Given the description of an element on the screen output the (x, y) to click on. 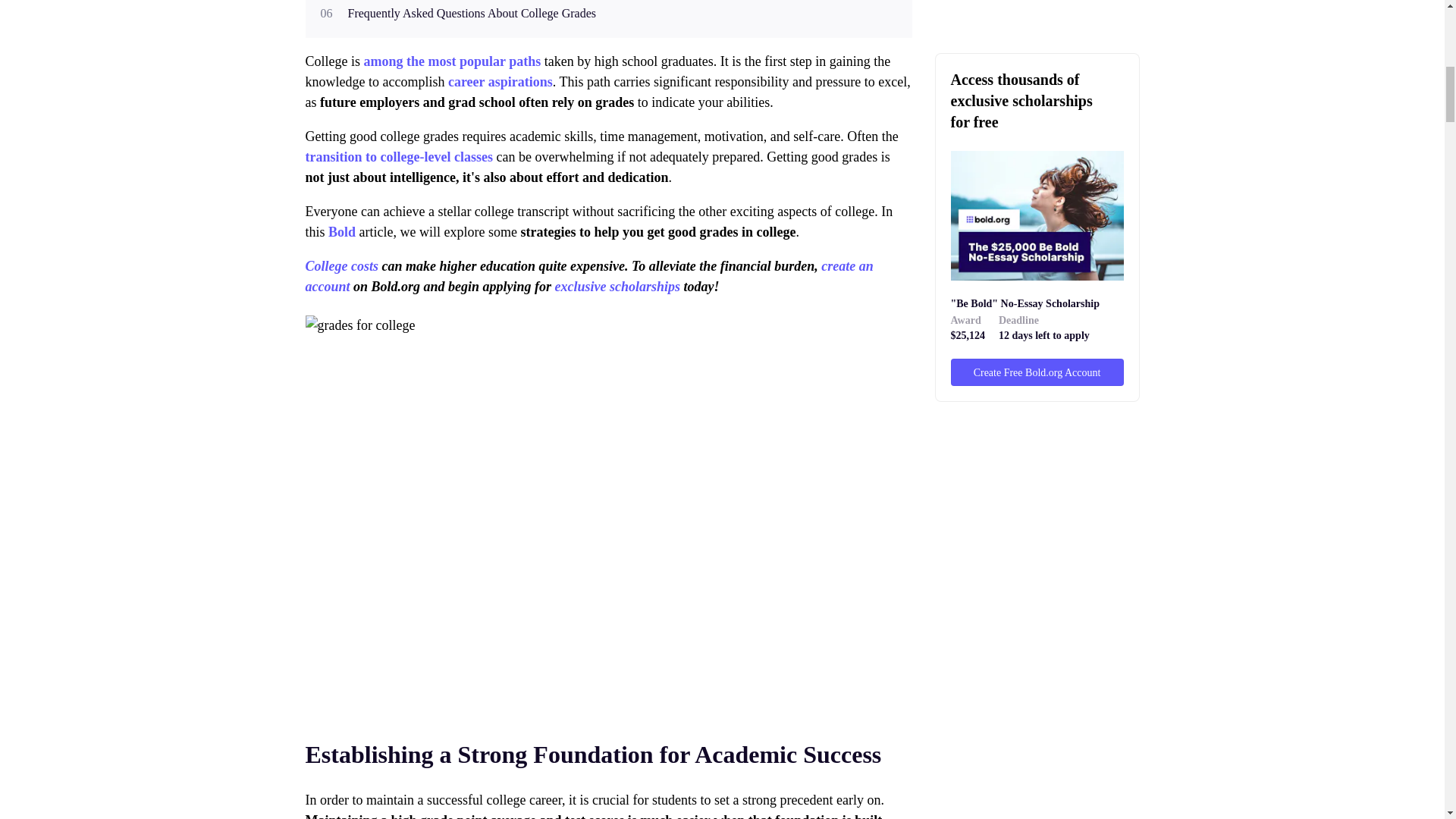
Bold (342, 231)
career aspirations (500, 81)
transition to college-level classes (398, 155)
College costs (342, 264)
Frequently Asked Questions About College Grades (471, 13)
among the most popular paths (454, 60)
